Given the description of an element on the screen output the (x, y) to click on. 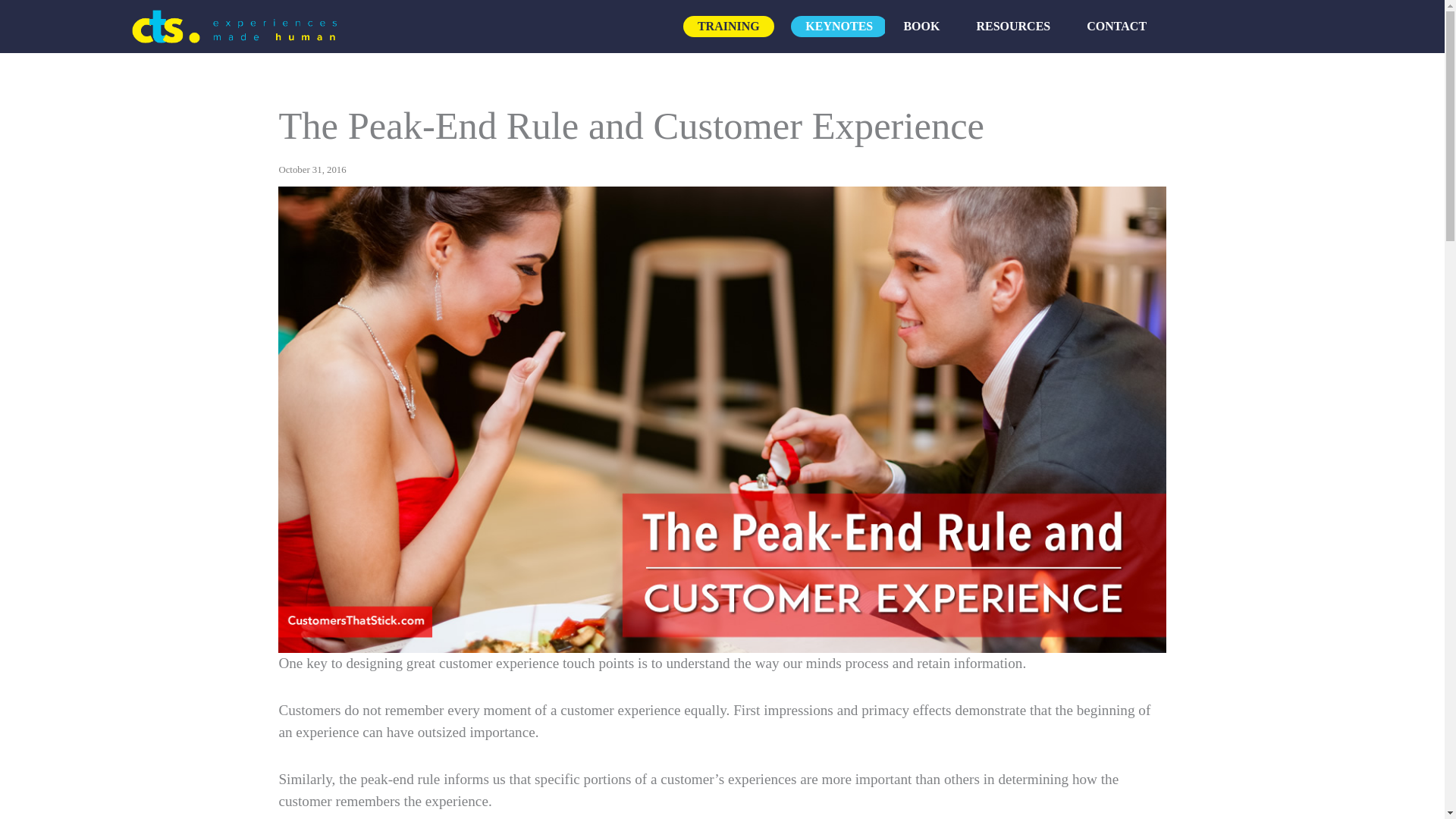
KEYNOTES (838, 25)
BOOK (921, 25)
RESOURCES (1013, 25)
TRAINING (728, 25)
CONTACT (1116, 25)
